Given the description of an element on the screen output the (x, y) to click on. 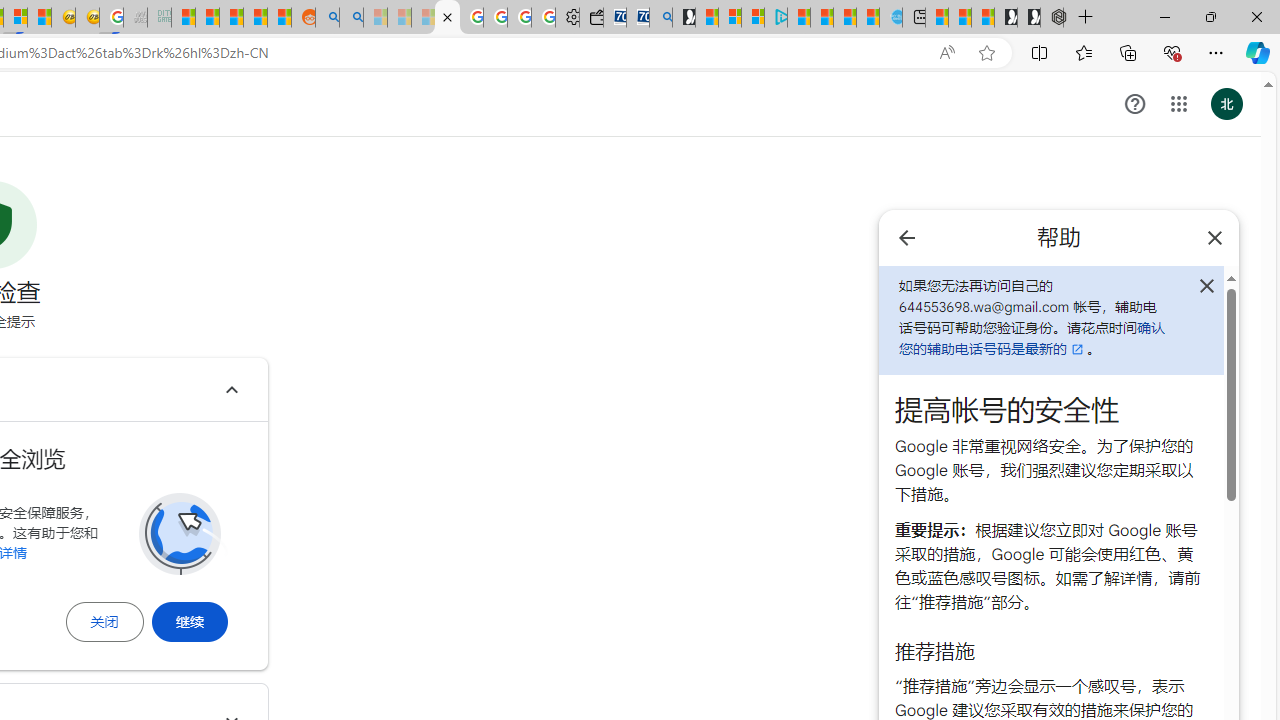
Student Loan Update: Forgiveness Program Ends This Month (255, 17)
